Given the description of an element on the screen output the (x, y) to click on. 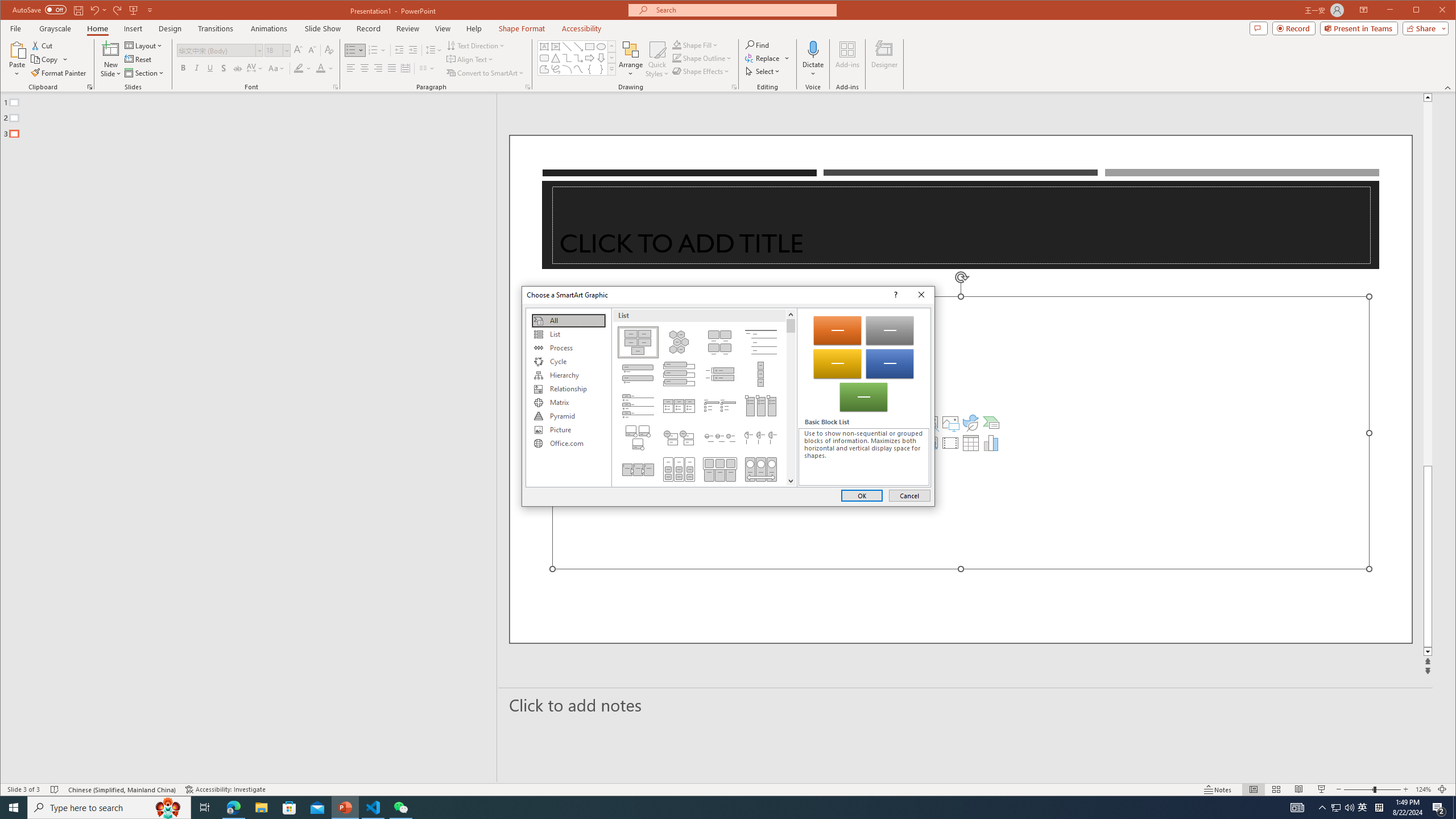
Increasing Circle Process (719, 437)
